Given the description of an element on the screen output the (x, y) to click on. 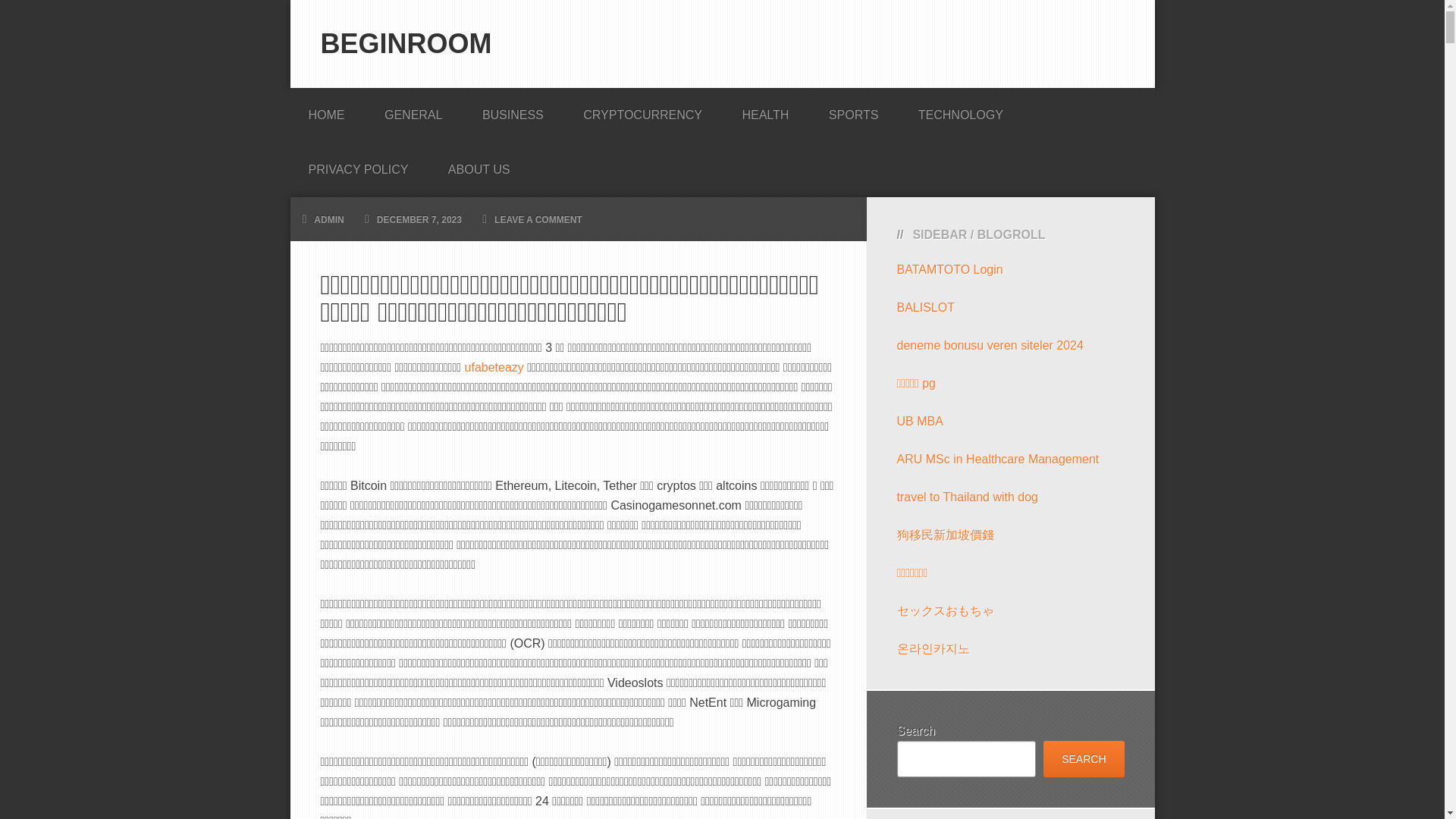
ADMIN (328, 219)
ufabeteazy (494, 367)
BUSINESS (513, 110)
CRYPTOCURRENCY (642, 110)
LEAVE A COMMENT (538, 219)
BEGINROOM (406, 42)
SPORTS (853, 110)
ABOUT US (478, 165)
GENERAL (413, 110)
HEALTH (764, 110)
PRIVACY POLICY (357, 165)
HOME (325, 110)
TECHNOLOGY (960, 110)
